Given the description of an element on the screen output the (x, y) to click on. 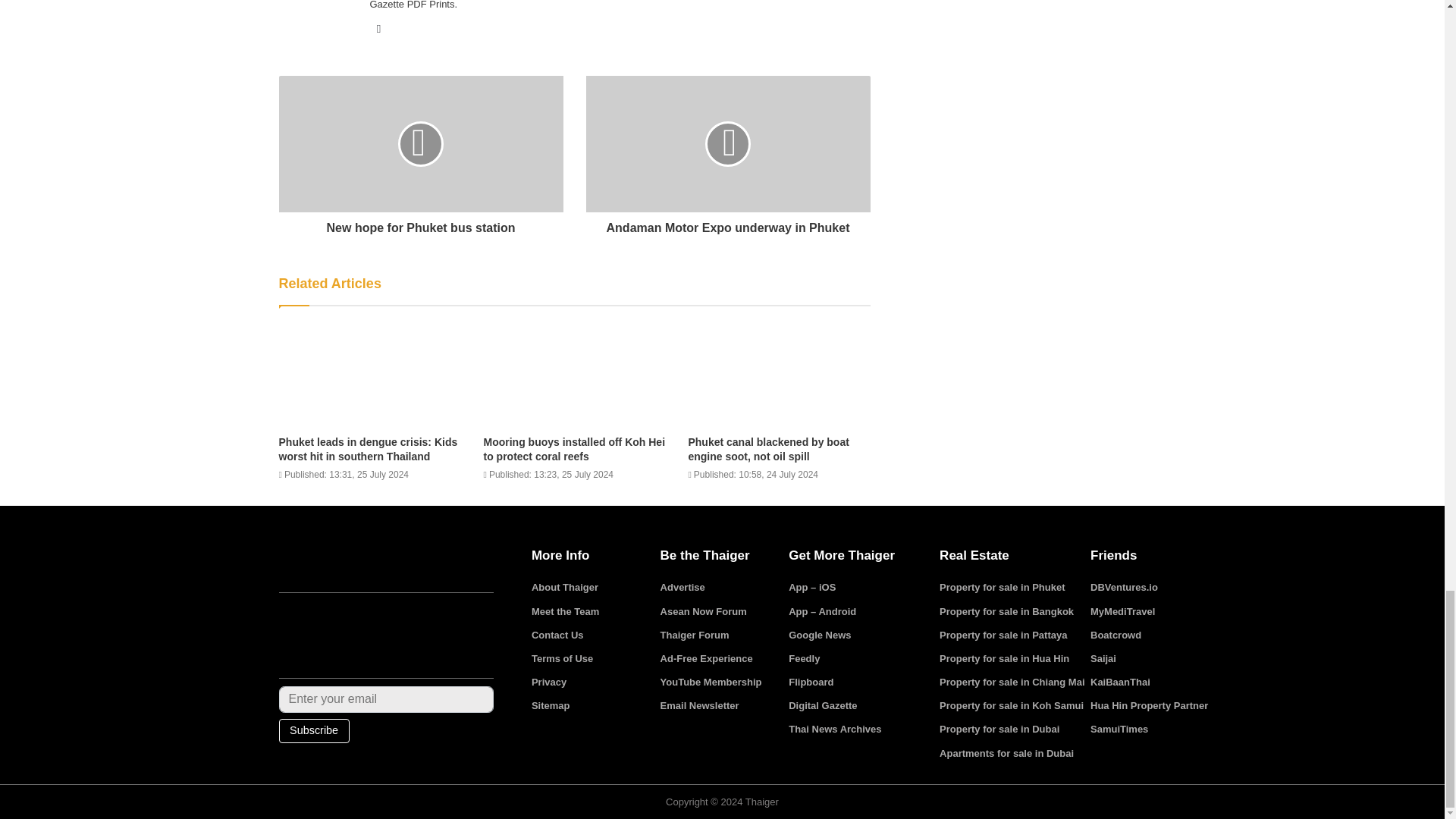
Subscribe (314, 730)
